Given the description of an element on the screen output the (x, y) to click on. 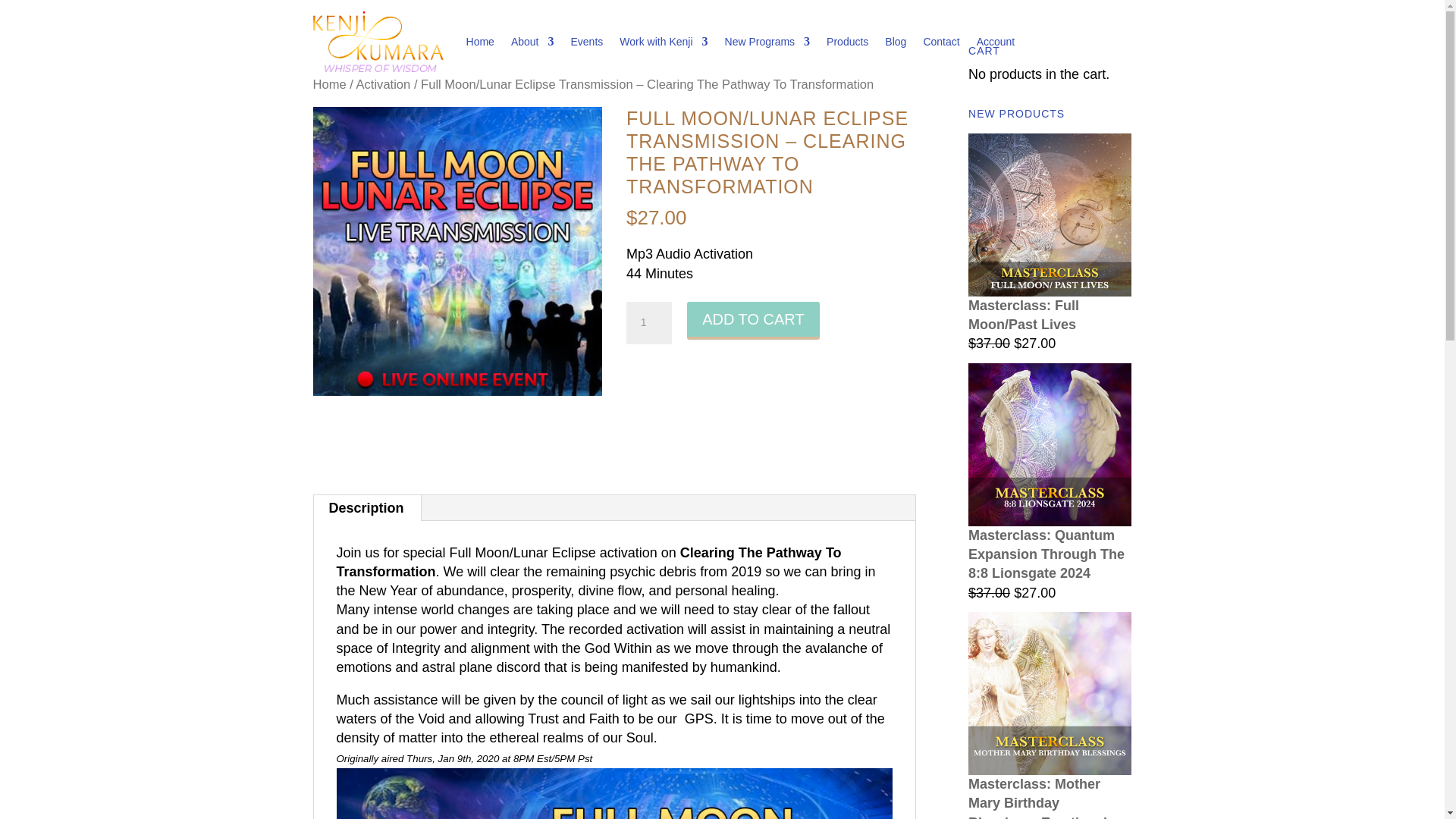
1 (648, 322)
Work with Kenji (663, 41)
fullmoon-square (457, 251)
New Programs (767, 41)
PayPal (770, 418)
